Given the description of an element on the screen output the (x, y) to click on. 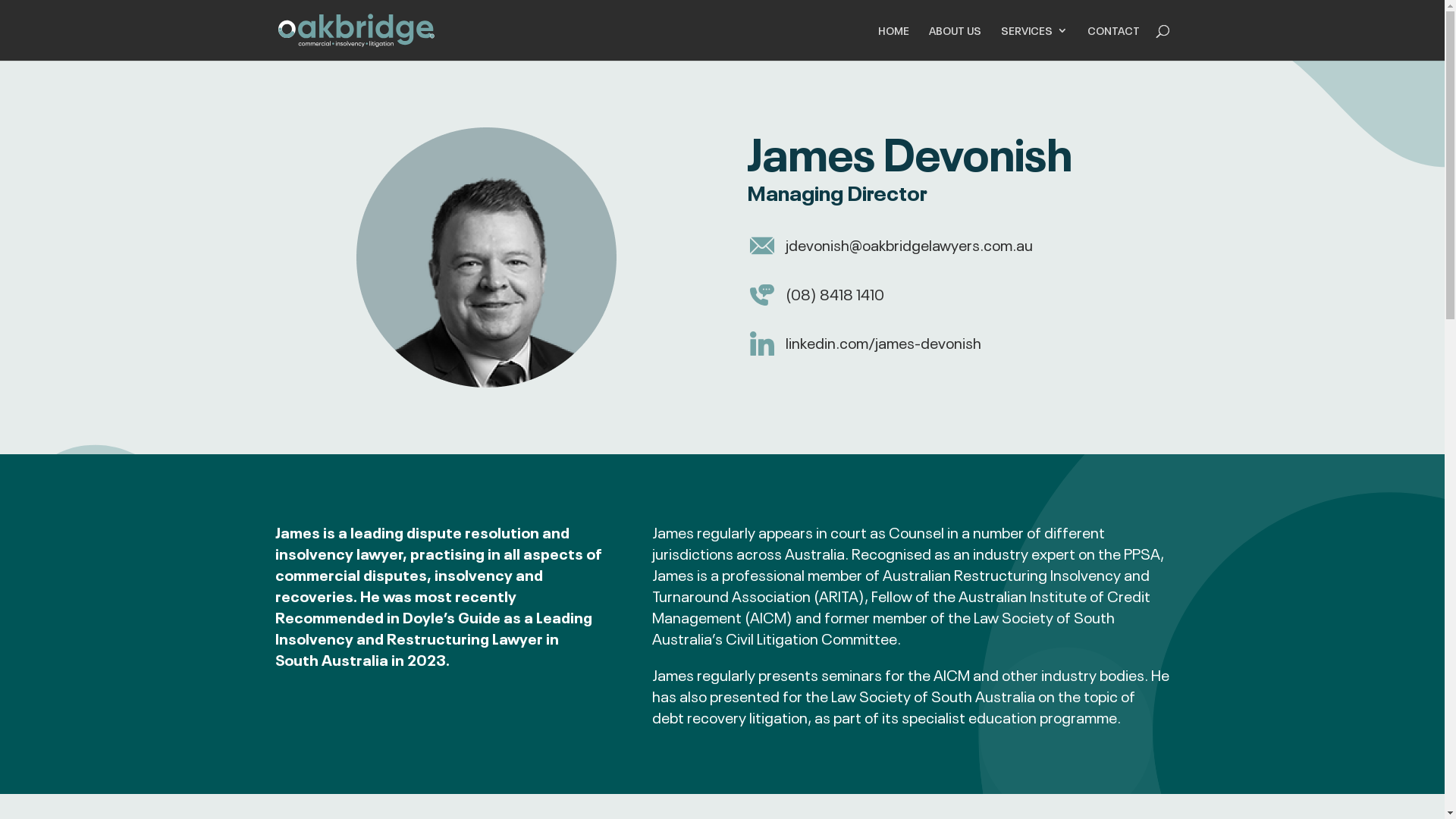
HOME Element type: text (893, 42)
ABOUT US Element type: text (954, 42)
SERVICES Element type: text (1034, 42)
CONTACT Element type: text (1113, 42)
